Given the description of an element on the screen output the (x, y) to click on. 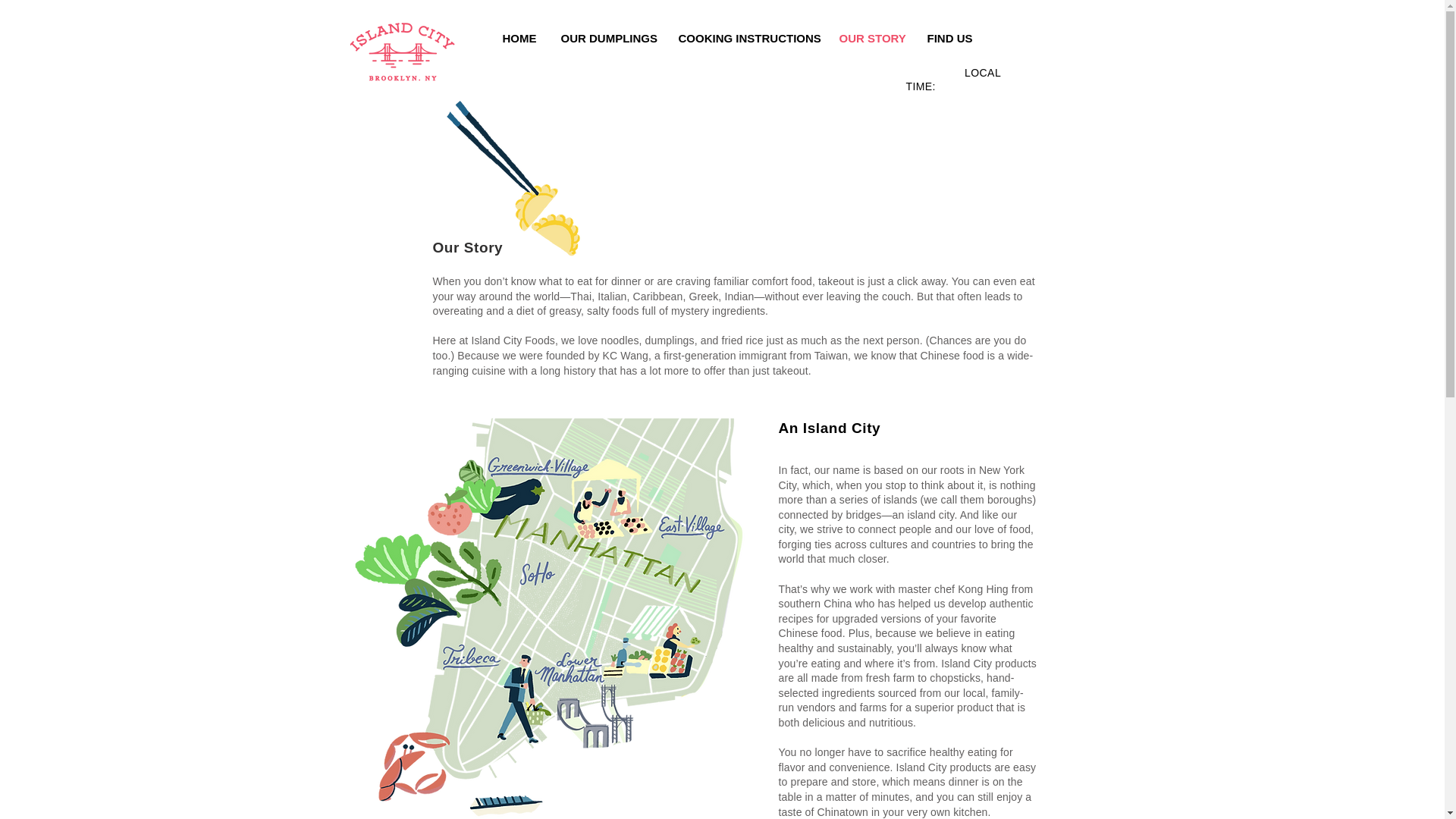
FIND US (949, 38)
HOME (518, 38)
COOKING INSTRUCTIONS (746, 38)
OUR STORY (870, 38)
OUR DUMPLINGS (606, 38)
